Given the description of an element on the screen output the (x, y) to click on. 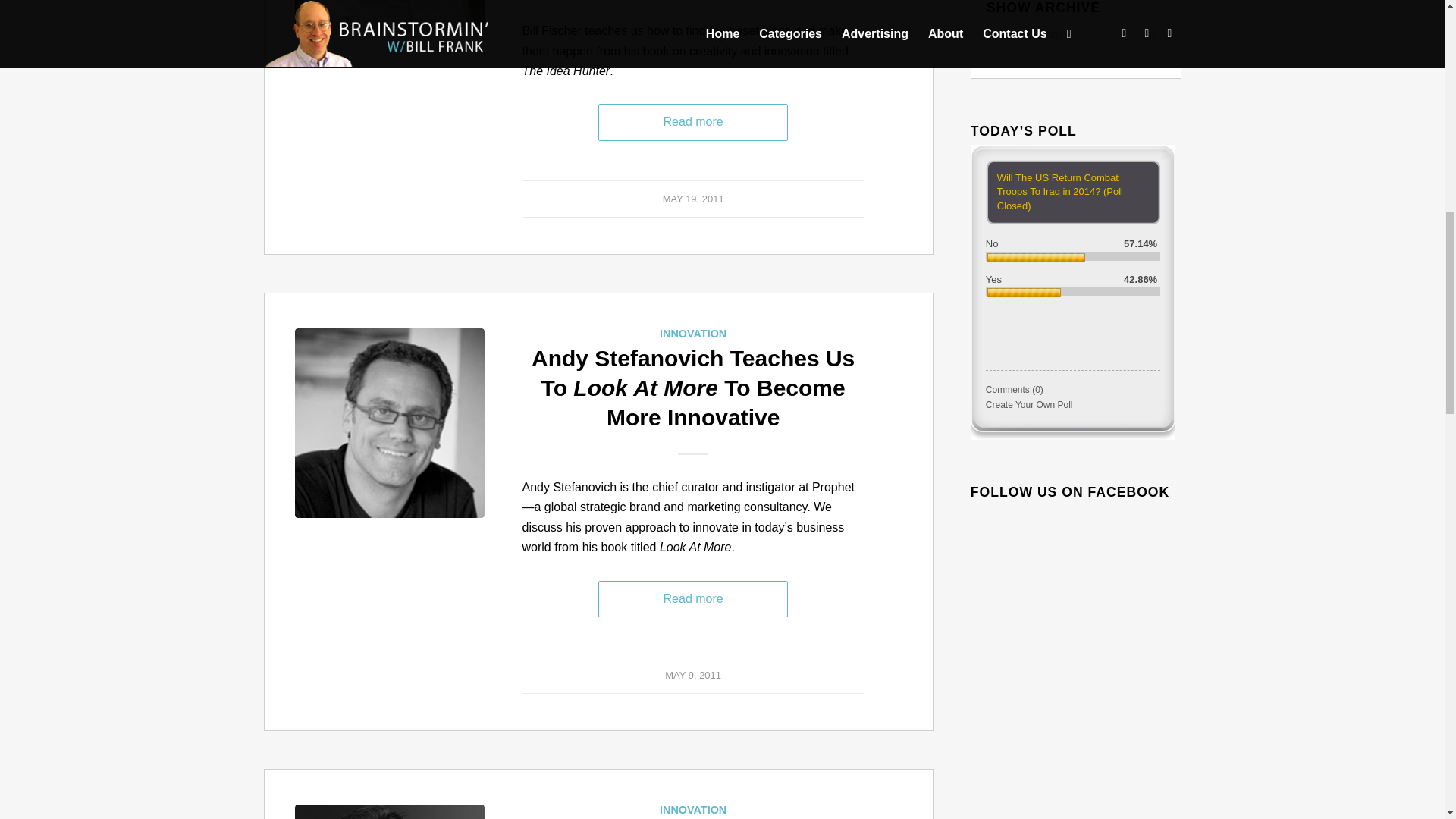
INNOVATION (692, 809)
INNOVATION (692, 333)
Read more (692, 598)
Peter Sims, author of LITTLE BETS (388, 811)
Bill Fischer, co-author of THE IDEA HUNTER (388, 15)
Read more (692, 122)
Andy Stefanovich, author of LOOK AT MORE (388, 422)
